Given the description of an element on the screen output the (x, y) to click on. 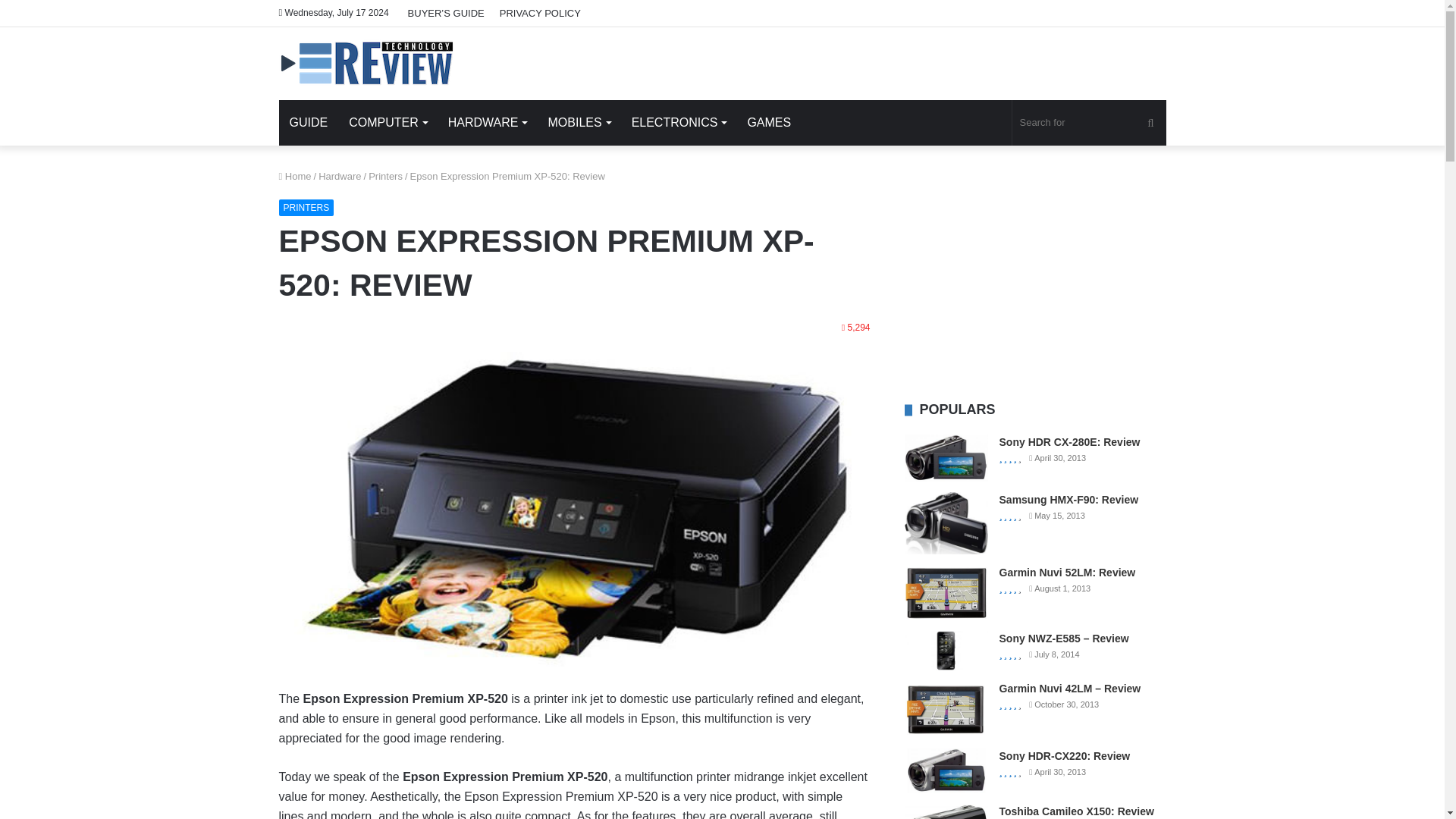
PRIVACY POLICY (540, 13)
COMPUTER (387, 122)
PRINTERS (306, 207)
Review Guidelines (368, 63)
ELECTRONICS (678, 122)
GUIDE (309, 122)
HARDWARE (487, 122)
Printers (385, 175)
Hardware (339, 175)
MOBILES (578, 122)
Home (295, 175)
Search for (1088, 122)
GAMES (769, 122)
